Given the description of an element on the screen output the (x, y) to click on. 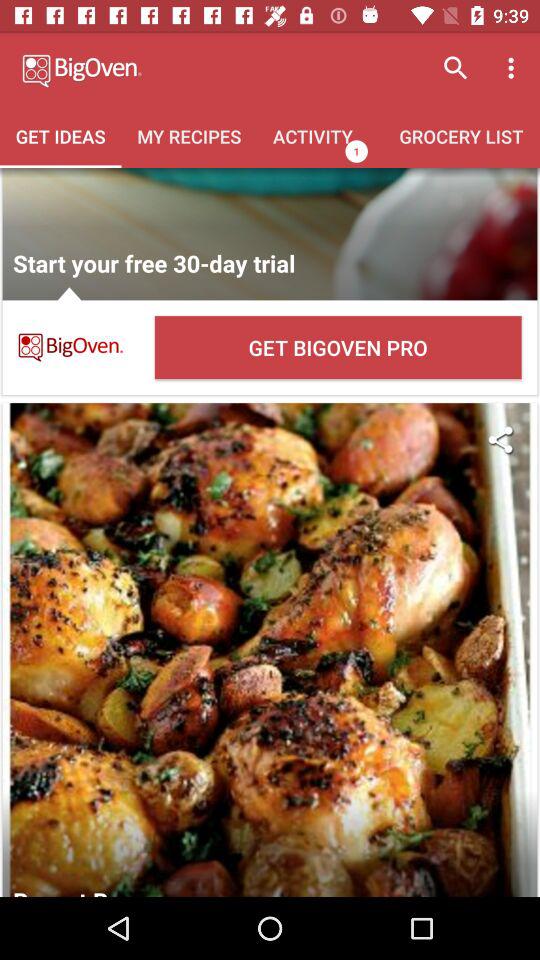
click on the search icon at the top right of the page (456, 68)
